Given the description of an element on the screen output the (x, y) to click on. 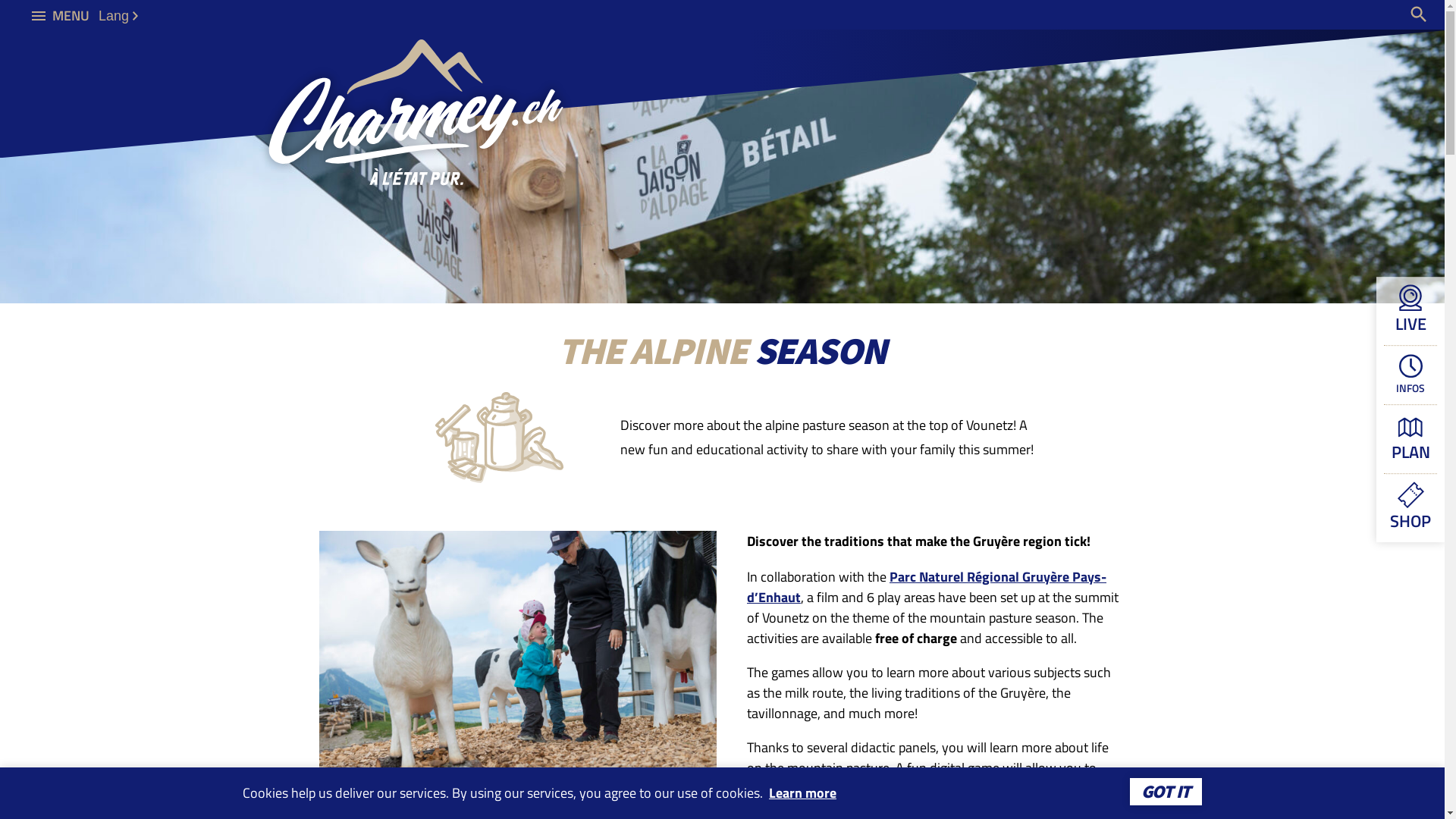
MENU Element type: text (60, 14)
GOT IT Element type: text (1165, 791)
Rechercher Element type: text (1418, 14)
SHOP Element type: text (1410, 507)
Learn more Element type: text (802, 792)
Search Element type: text (1375, 14)
PLAN Element type: text (1410, 438)
LIVE Element type: text (1410, 310)
INFOS Element type: text (1410, 374)
Lang Element type: text (117, 15)
